Given the description of an element on the screen output the (x, y) to click on. 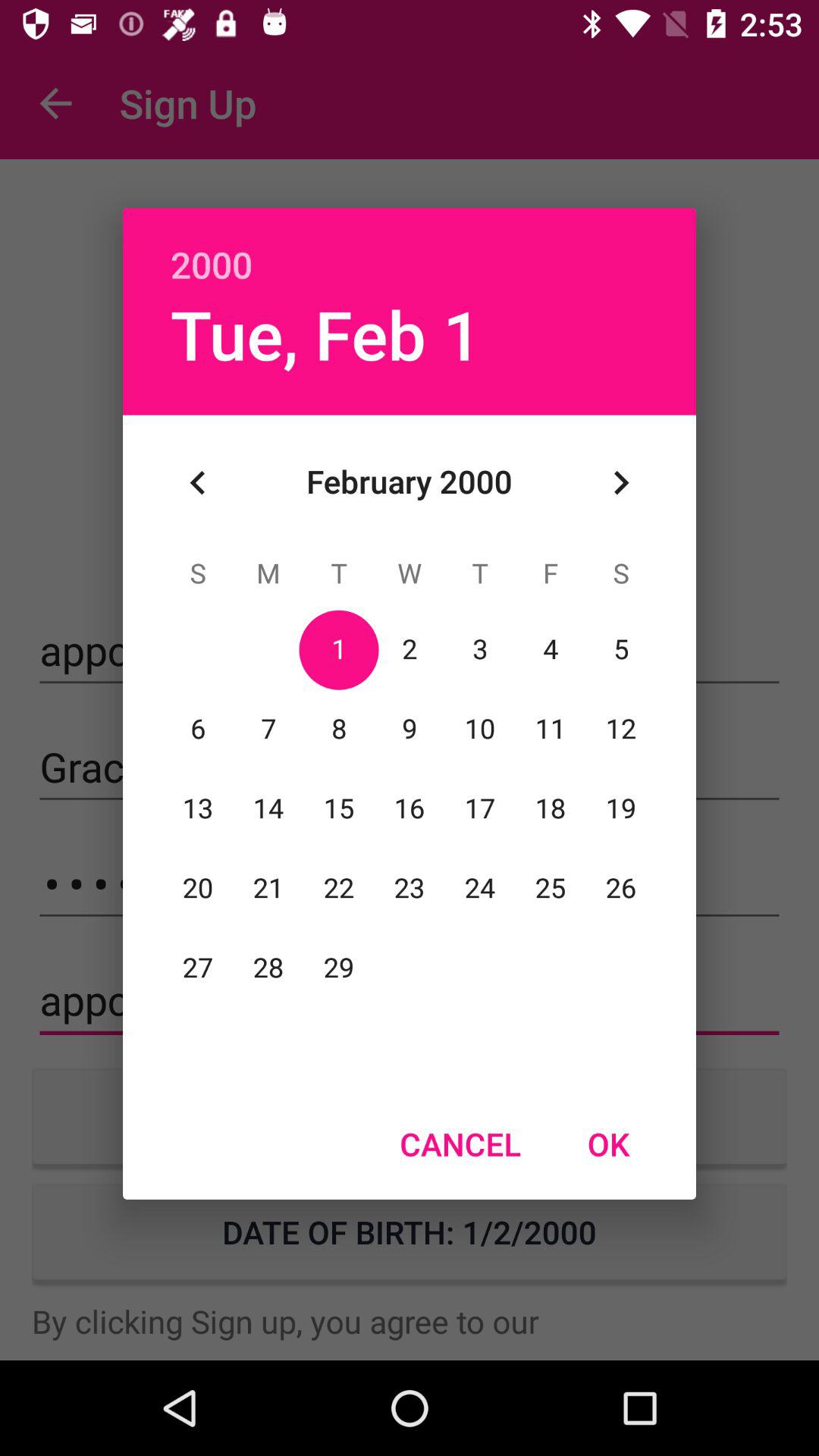
click the item above tue, feb 1 icon (409, 248)
